Given the description of an element on the screen output the (x, y) to click on. 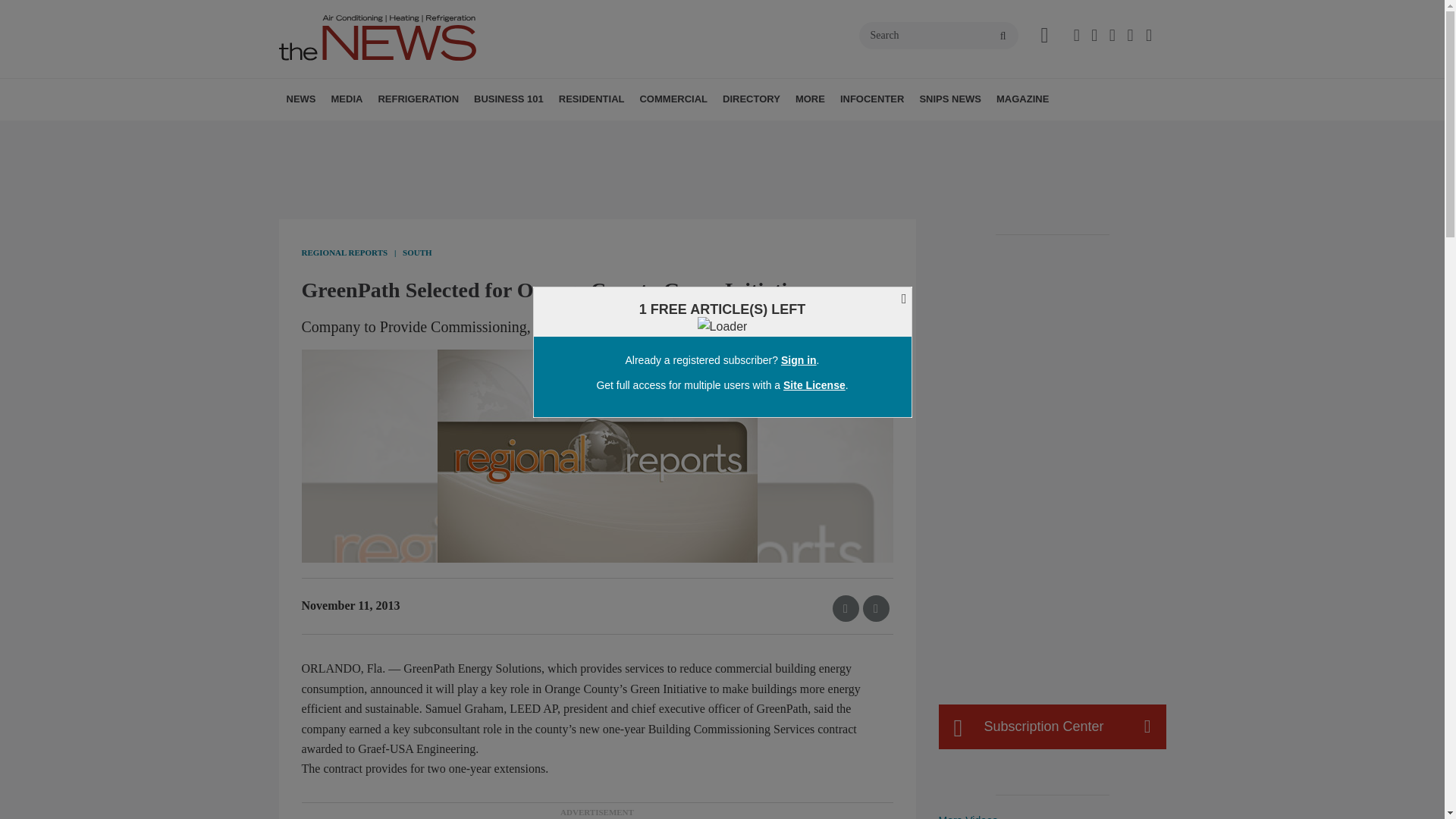
MEDIA (346, 98)
EBOOKS (442, 132)
DUCTWORD PUZZLE (449, 132)
FROSTLINES (478, 132)
search (1002, 36)
THE NEWS HVACR QUIZ (445, 132)
AHR EXPO 2024 VIDEOS (424, 132)
PODCASTS (430, 132)
BUSINESS 101 (508, 98)
VIDEOS (417, 132)
